Given the description of an element on the screen output the (x, y) to click on. 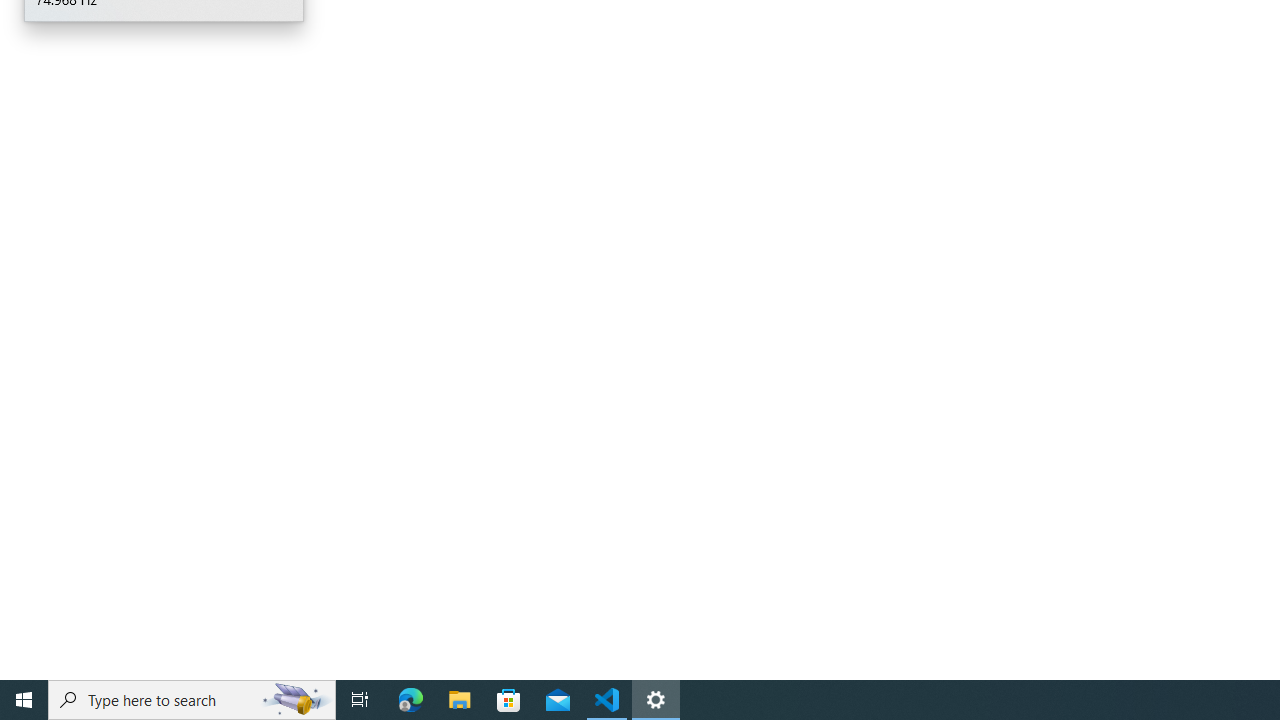
File Explorer (460, 699)
Settings - 1 running window (656, 699)
Start (24, 699)
Microsoft Store (509, 699)
Visual Studio Code - 1 running window (607, 699)
Task View (359, 699)
Type here to search (191, 699)
Search highlights icon opens search home window (295, 699)
Microsoft Edge (411, 699)
